Given the description of an element on the screen output the (x, y) to click on. 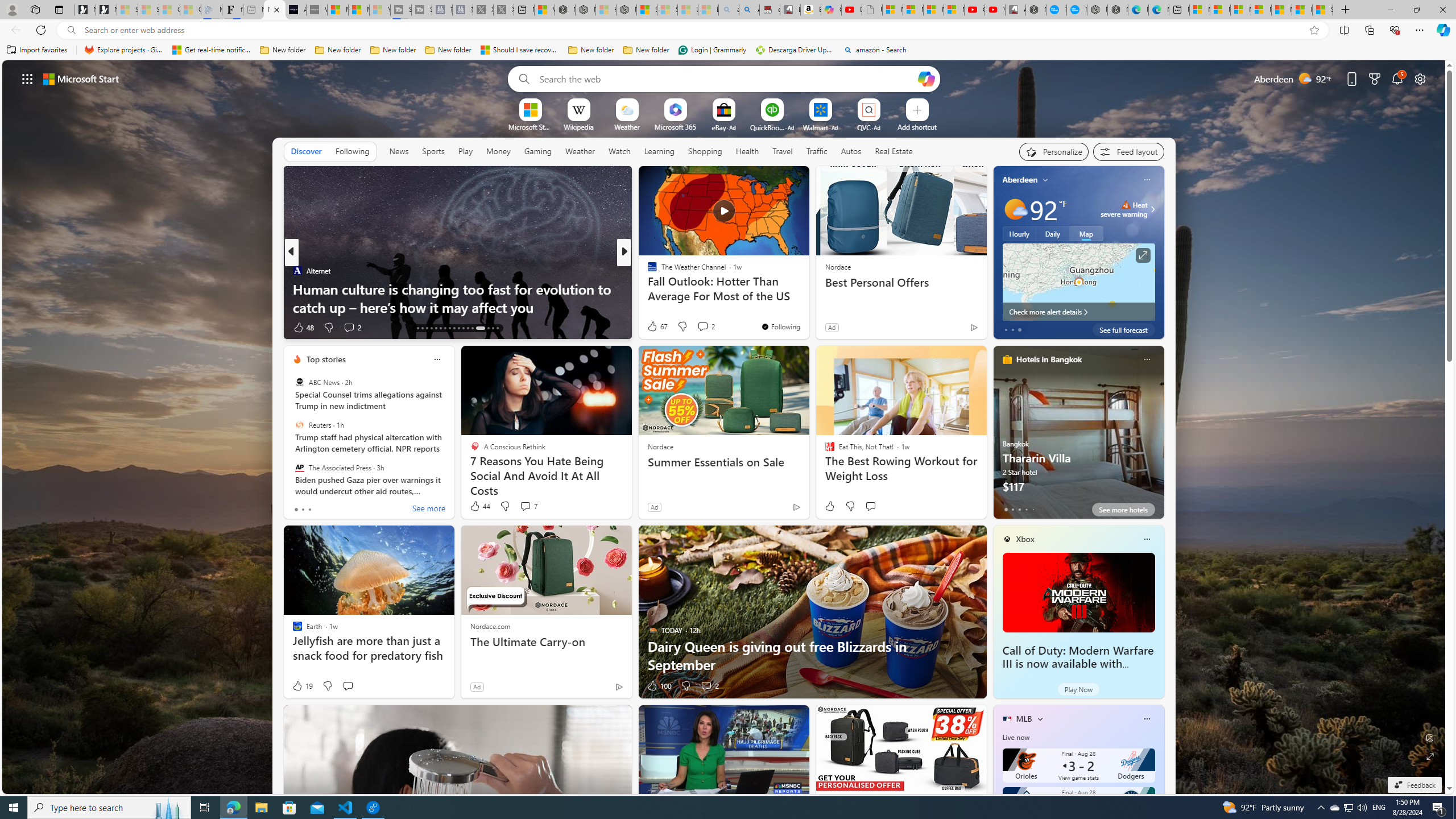
Ad Choice (619, 686)
See full forecast (1123, 329)
Class: control (27, 78)
Health (746, 151)
Tab actions menu (58, 9)
Login | Grammarly (712, 49)
92 Like (652, 327)
Larger map  (1077, 282)
Real Estate (893, 151)
Personalize your feed" (1054, 151)
Search (520, 78)
